Given the description of an element on the screen output the (x, y) to click on. 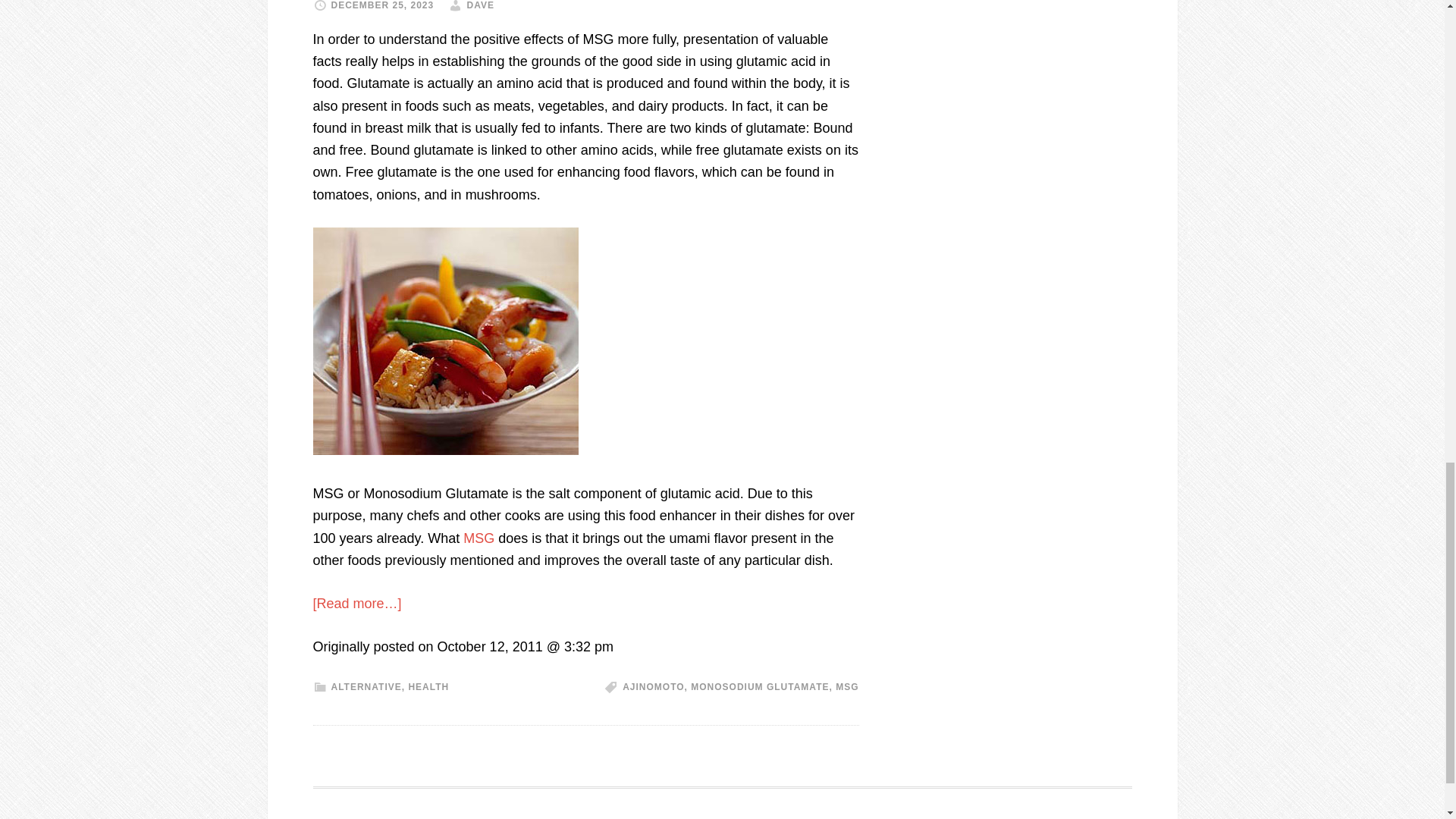
MONOSODIUM GLUTAMATE (759, 686)
MSG (847, 686)
AJINOMOTO (653, 686)
DAVE (481, 5)
ALTERNATIVE (365, 686)
HEALTH (427, 686)
MSG (480, 538)
